Given the description of an element on the screen output the (x, y) to click on. 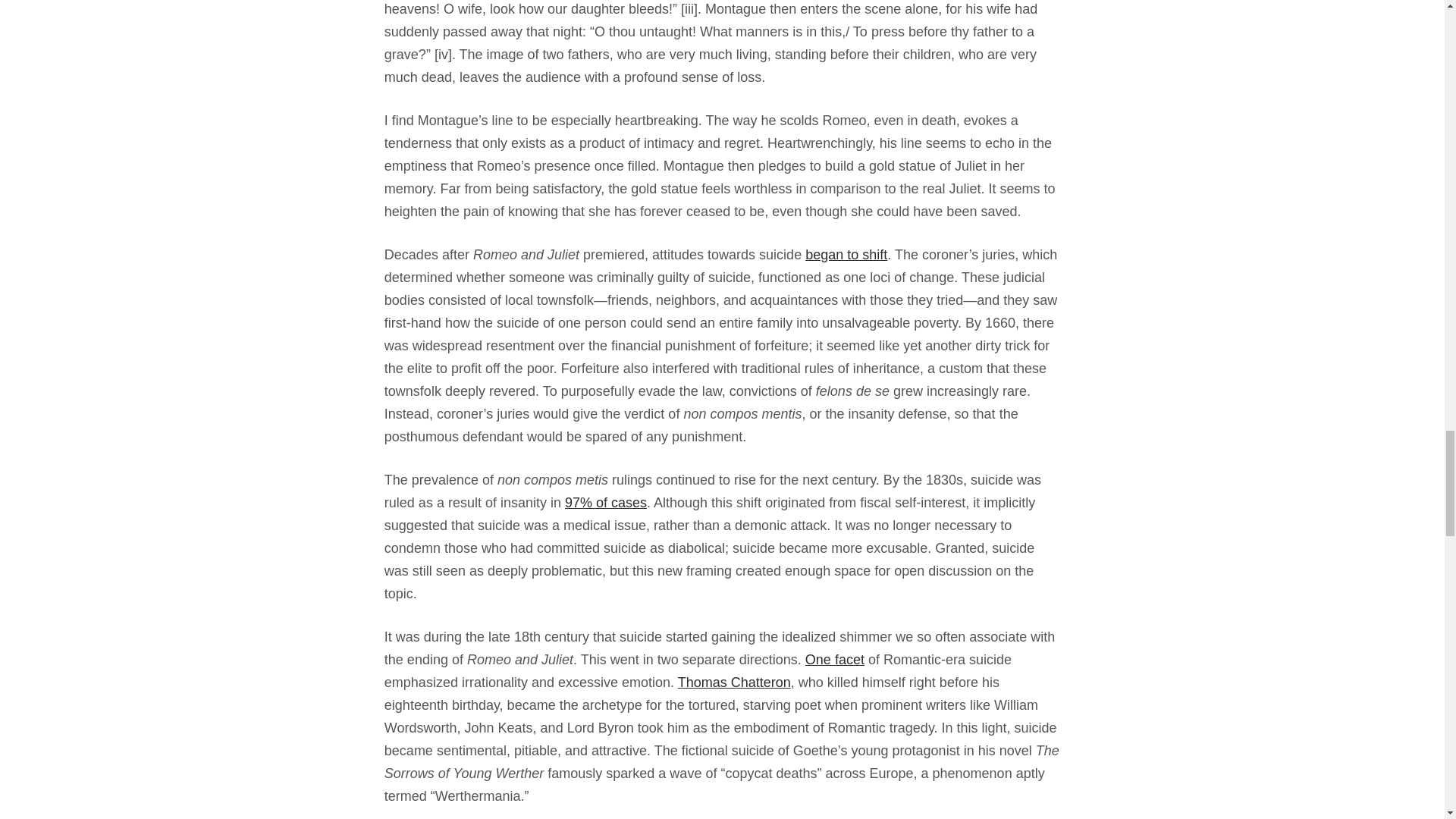
Thomas Chatteron (734, 682)
One facet (834, 659)
began to shift (845, 254)
